Given the description of an element on the screen output the (x, y) to click on. 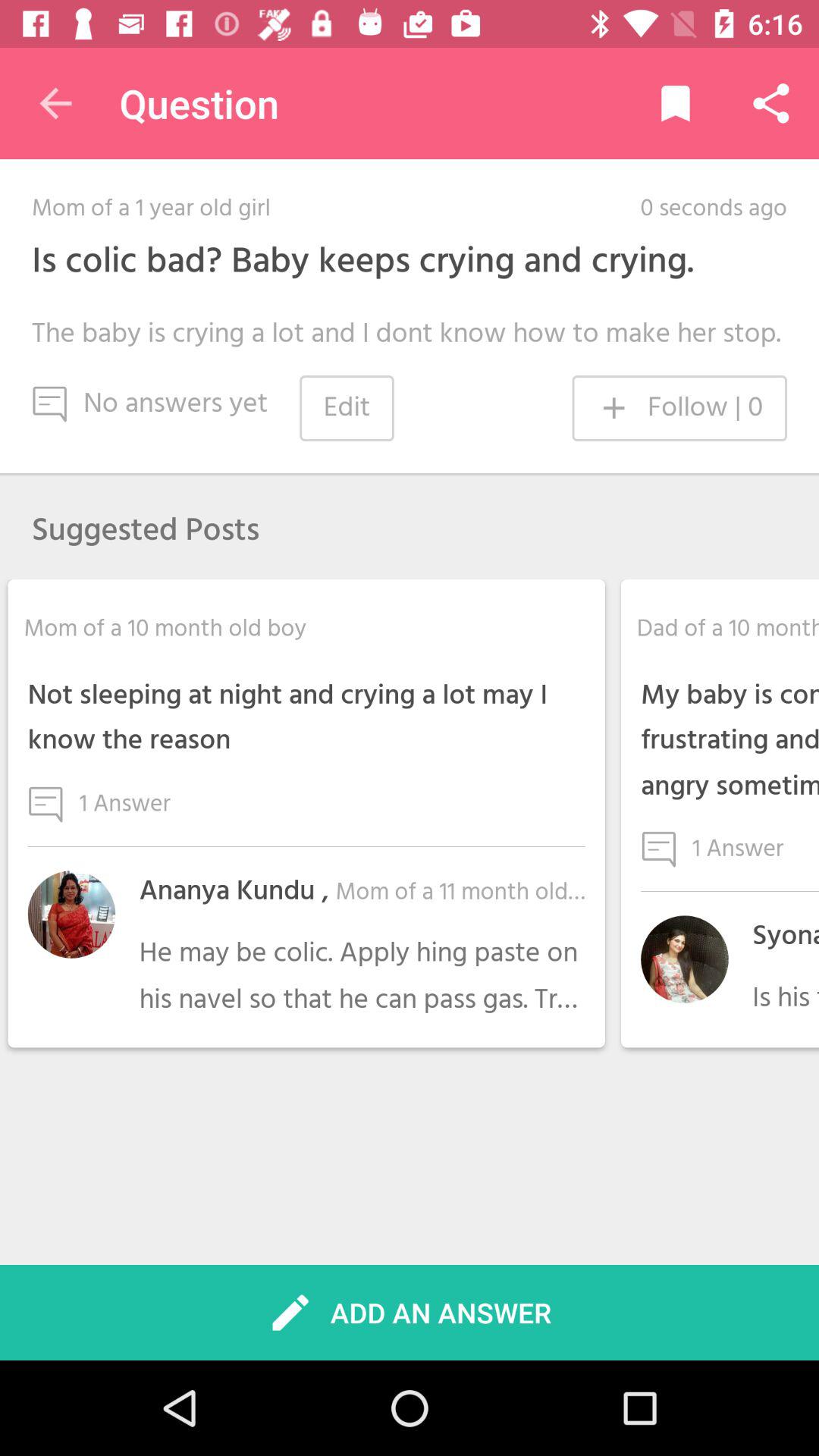
open the item above mom of a item (55, 103)
